Given the description of an element on the screen output the (x, y) to click on. 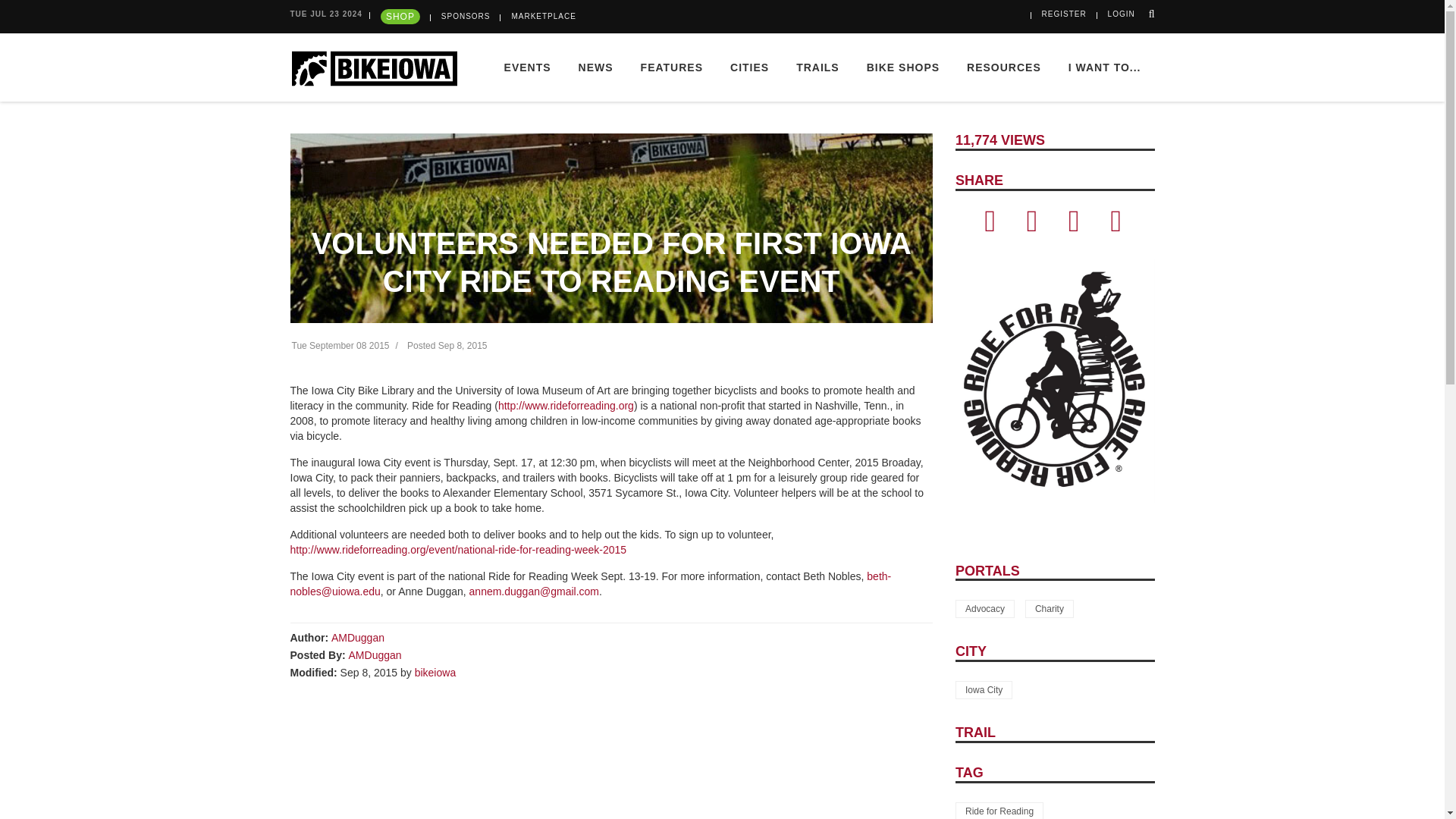
Click to Share via Facebook (990, 227)
EVENTS (527, 67)
SPONSORS (465, 16)
RESOURCES (1003, 67)
News Date: Tue September 08 2015  (339, 345)
BIKE SHOPS (903, 67)
Click to Share via Twitter (1031, 227)
Posted Sep 8, 2015  (446, 345)
FEATURES (671, 67)
NEWS (595, 67)
SHOP (400, 16)
Click to Share via Email (1073, 227)
CITIES (749, 67)
LOGIN (1121, 13)
